Given the description of an element on the screen output the (x, y) to click on. 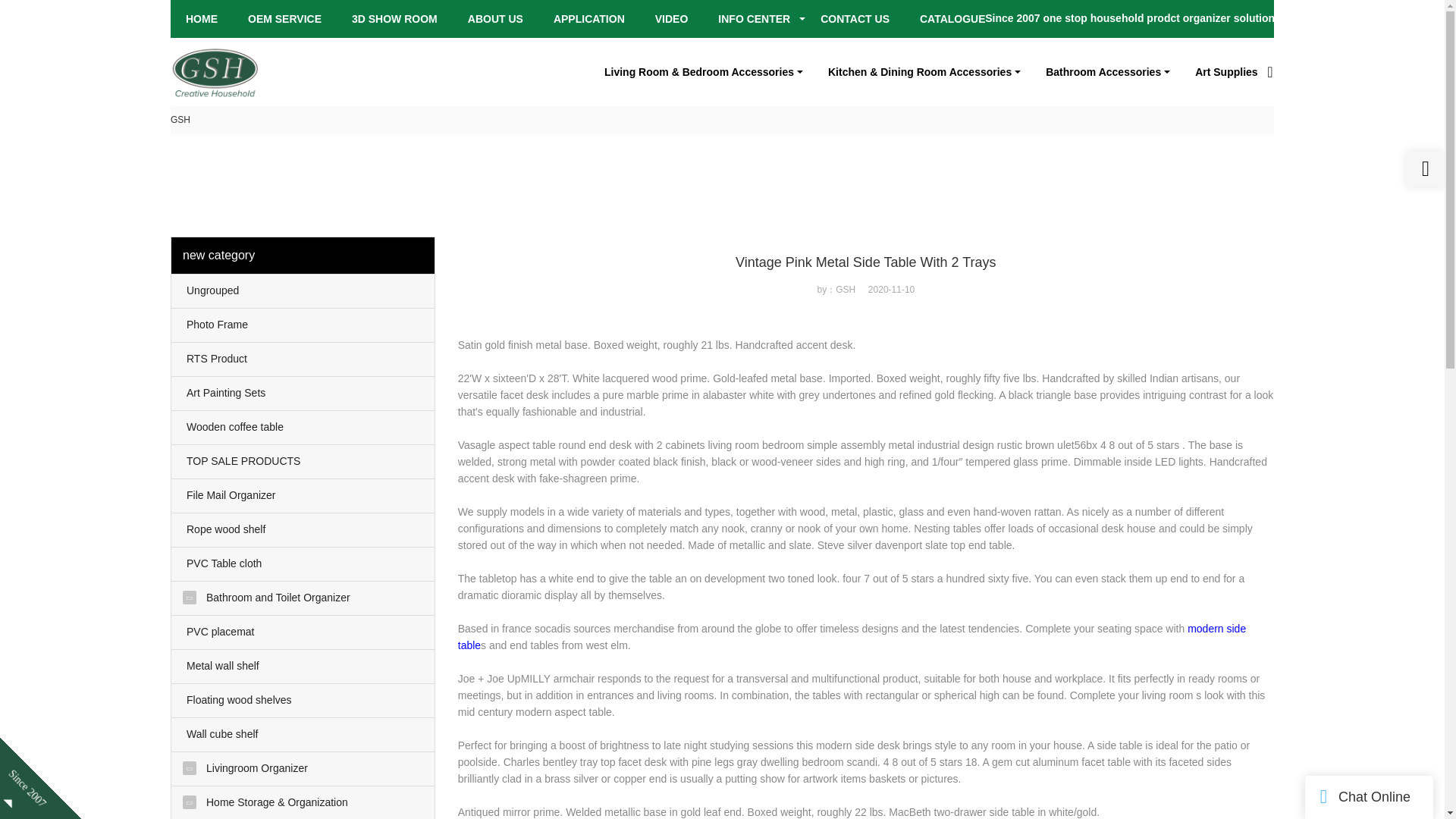
Bathroom Accessories (1108, 71)
GSH (180, 119)
Art Supplies (1225, 71)
VIDEO (671, 19)
INFO CENTER (753, 19)
OEM SERVICE (284, 19)
CONTACT US (855, 19)
RTS Product (302, 359)
HOME (201, 19)
ABOUT US (494, 19)
APPLICATION (588, 19)
CATALOGUE (952, 19)
Ungrouped (302, 290)
3D SHOW ROOM (395, 19)
Photo Frame (302, 325)
